Given the description of an element on the screen output the (x, y) to click on. 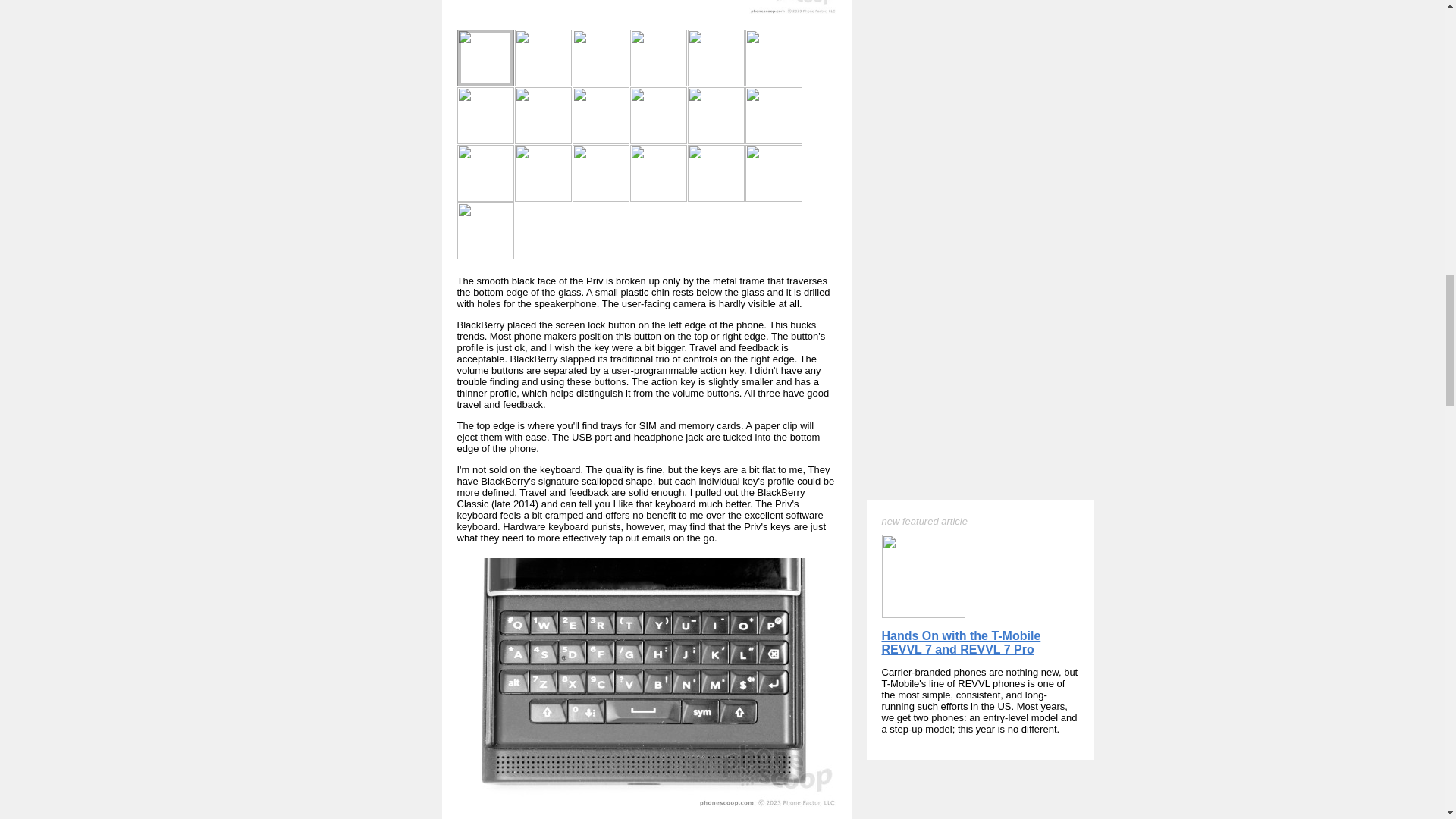
next photo (816, 14)
